Given the description of an element on the screen output the (x, y) to click on. 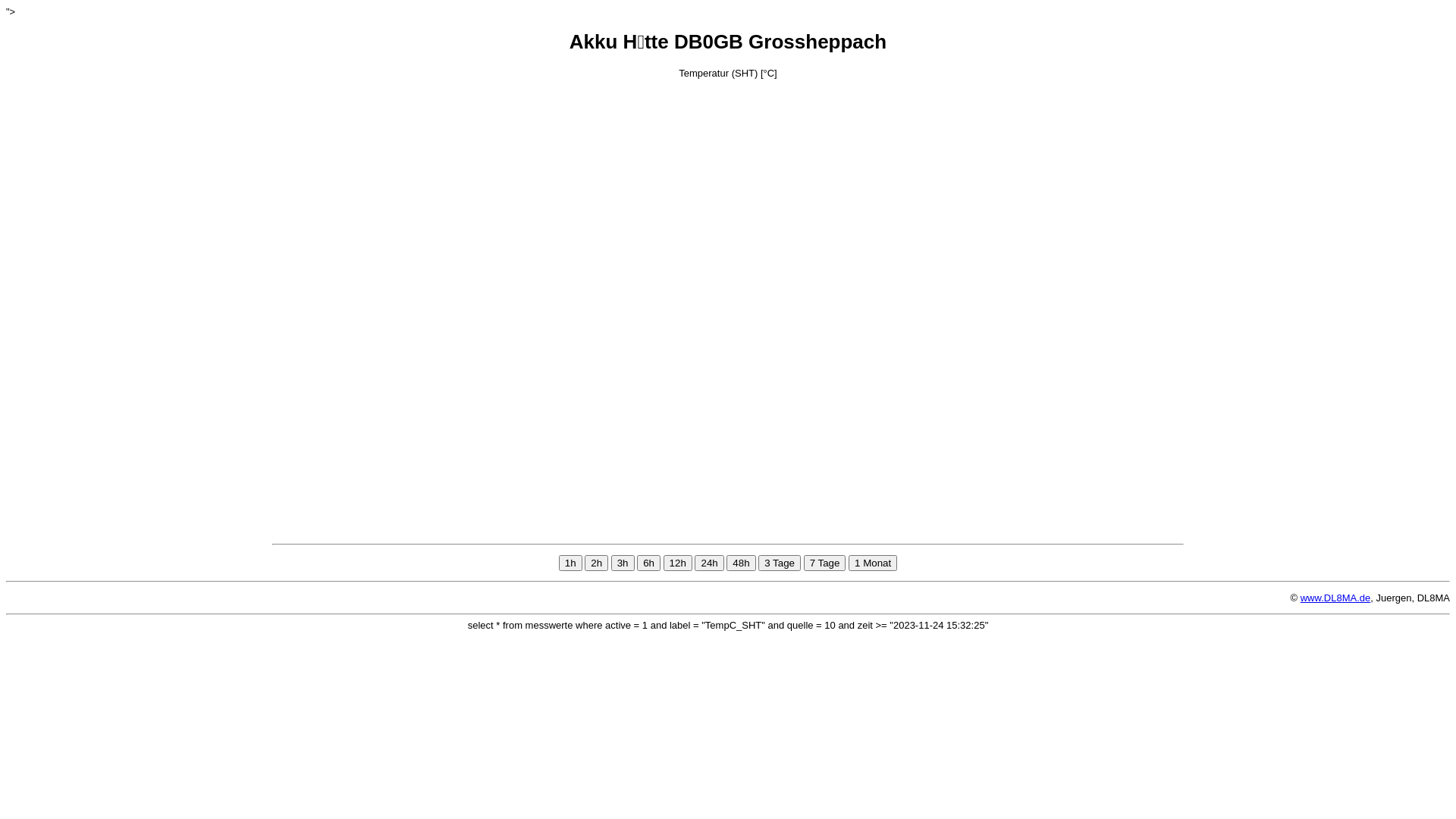
1h Element type: text (570, 563)
12h Element type: text (677, 563)
2h Element type: text (596, 563)
6h Element type: text (648, 563)
48h Element type: text (740, 563)
3 Tage Element type: text (779, 563)
1 Monat Element type: text (872, 563)
7 Tage Element type: text (824, 563)
3h Element type: text (622, 563)
24h Element type: text (708, 563)
www.DL8MA.de Element type: text (1335, 597)
